Given the description of an element on the screen output the (x, y) to click on. 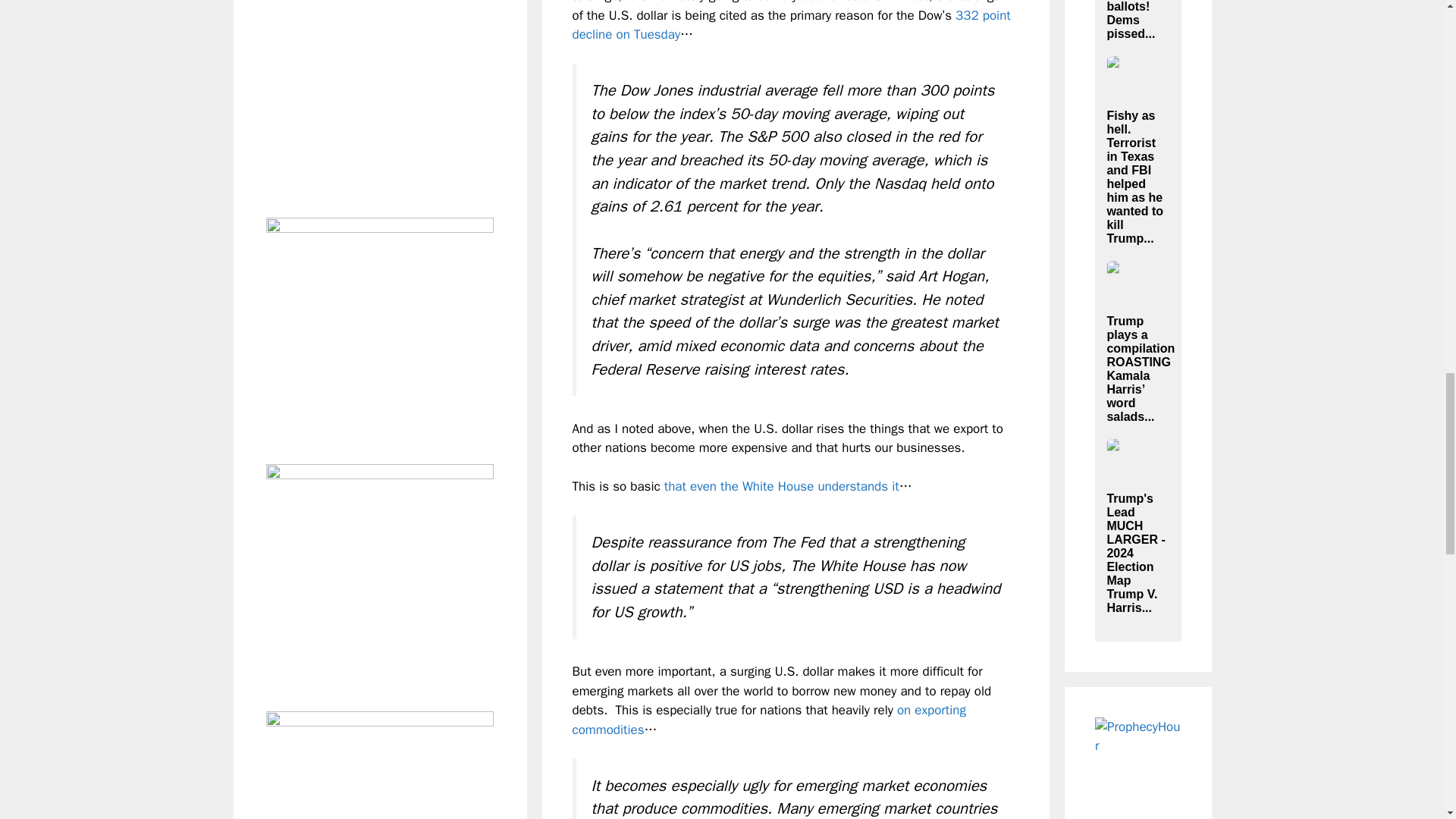
that even the White House understands it (781, 486)
on exporting commodities (768, 719)
332 point decline on Tuesday (791, 25)
